Given the description of an element on the screen output the (x, y) to click on. 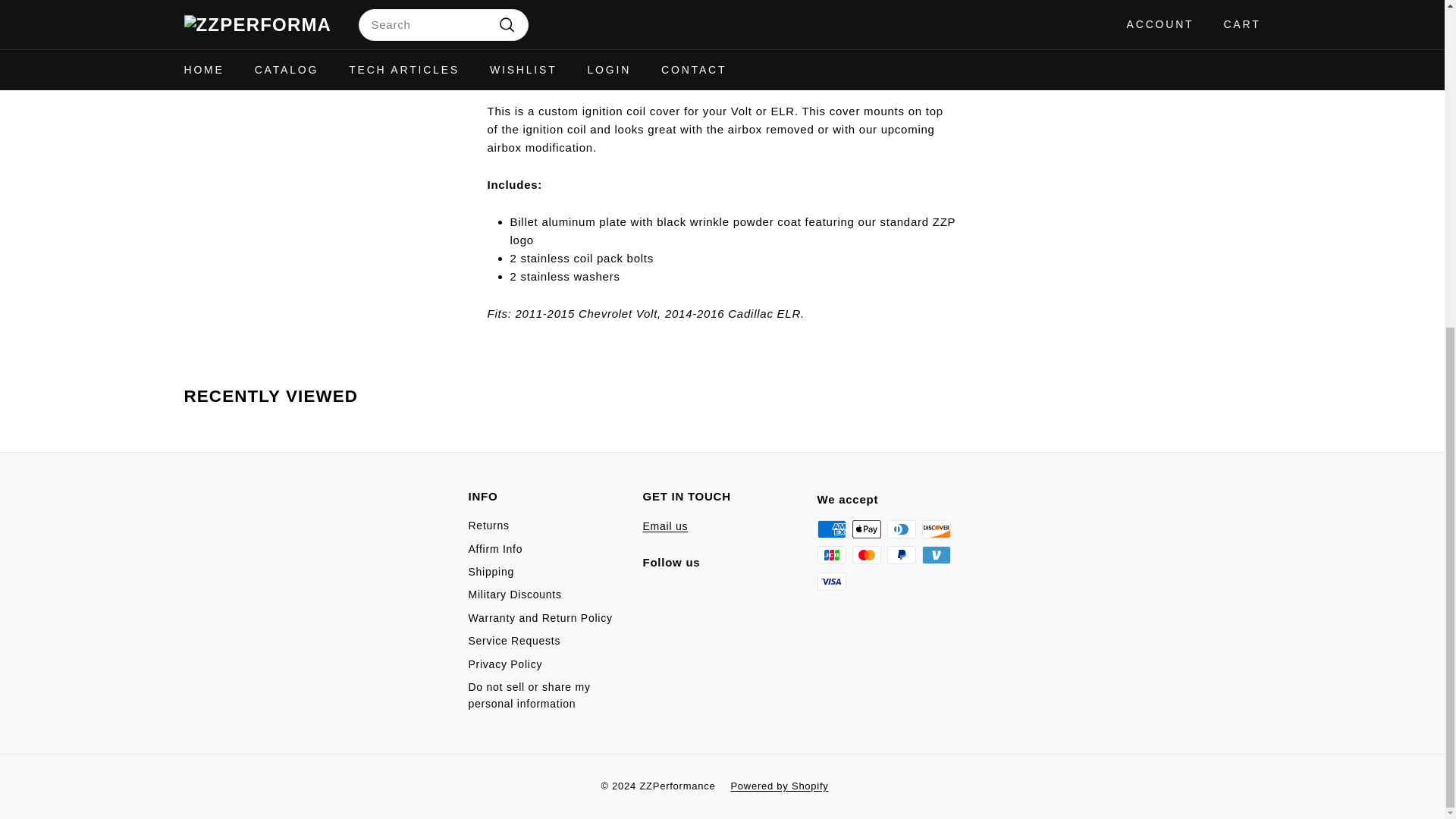
American Express (830, 529)
Mastercard (865, 555)
Diners Club (900, 529)
PayPal (900, 555)
Visa (830, 581)
Venmo (935, 555)
Discover (935, 529)
Apple Pay (865, 529)
JCB (830, 555)
